Given the description of an element on the screen output the (x, y) to click on. 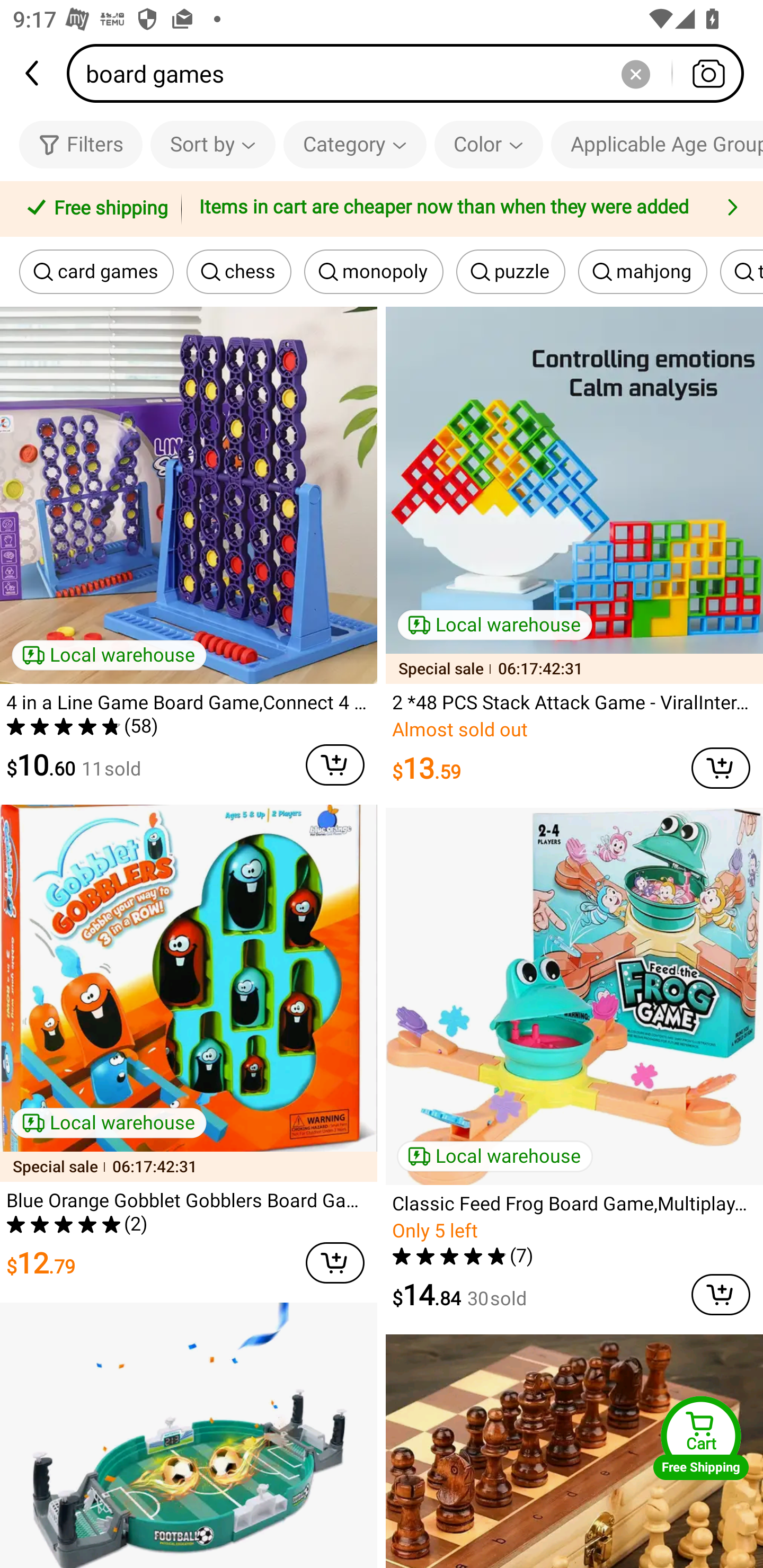
back (33, 72)
board games (411, 73)
Delete search history (635, 73)
Search by photo (708, 73)
Filters (80, 143)
Sort by (212, 143)
Category (354, 143)
Color (488, 143)
Applicable Age Group (656, 143)
 Free shipping (93, 208)
card games (96, 271)
chess (238, 271)
monopoly (373, 271)
puzzle (510, 271)
mahjong (642, 271)
cart delete (334, 764)
cart delete (720, 767)
cart delete (334, 1262)
cart delete (720, 1294)
Cart Free Shipping Cart (701, 1437)
